Given the description of an element on the screen output the (x, y) to click on. 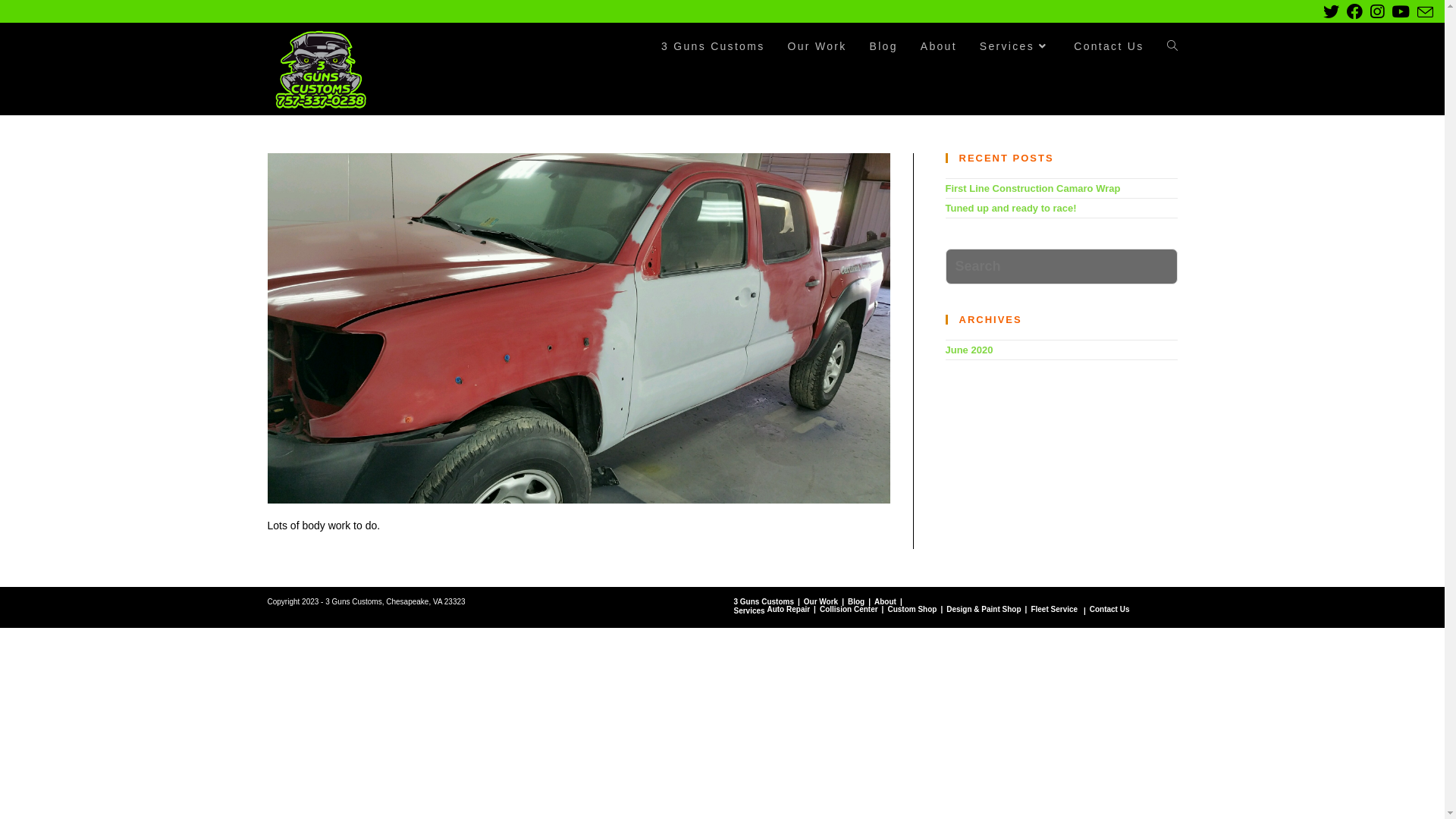
Custom Shop Element type: text (911, 609)
Collision Center Element type: text (848, 609)
3 Guns Customs Element type: text (763, 601)
About Element type: text (885, 601)
Fleet Service Element type: text (1053, 609)
3 Guns Customs Element type: text (712, 46)
Services Element type: text (1015, 46)
Contact Us Element type: text (1109, 609)
Our Work Element type: text (816, 46)
Blog Element type: text (883, 46)
Our Work Element type: text (820, 601)
First Line Construction Camaro Wrap Element type: text (1032, 188)
Contact Us Element type: text (1108, 46)
Auto Repair Element type: text (787, 609)
Design & Paint Shop Element type: text (983, 609)
June 2020 Element type: text (968, 349)
About Element type: text (938, 46)
Tuned up and ready to race! Element type: text (1010, 207)
Blog Element type: text (855, 601)
Services Element type: text (749, 610)
